Given the description of an element on the screen output the (x, y) to click on. 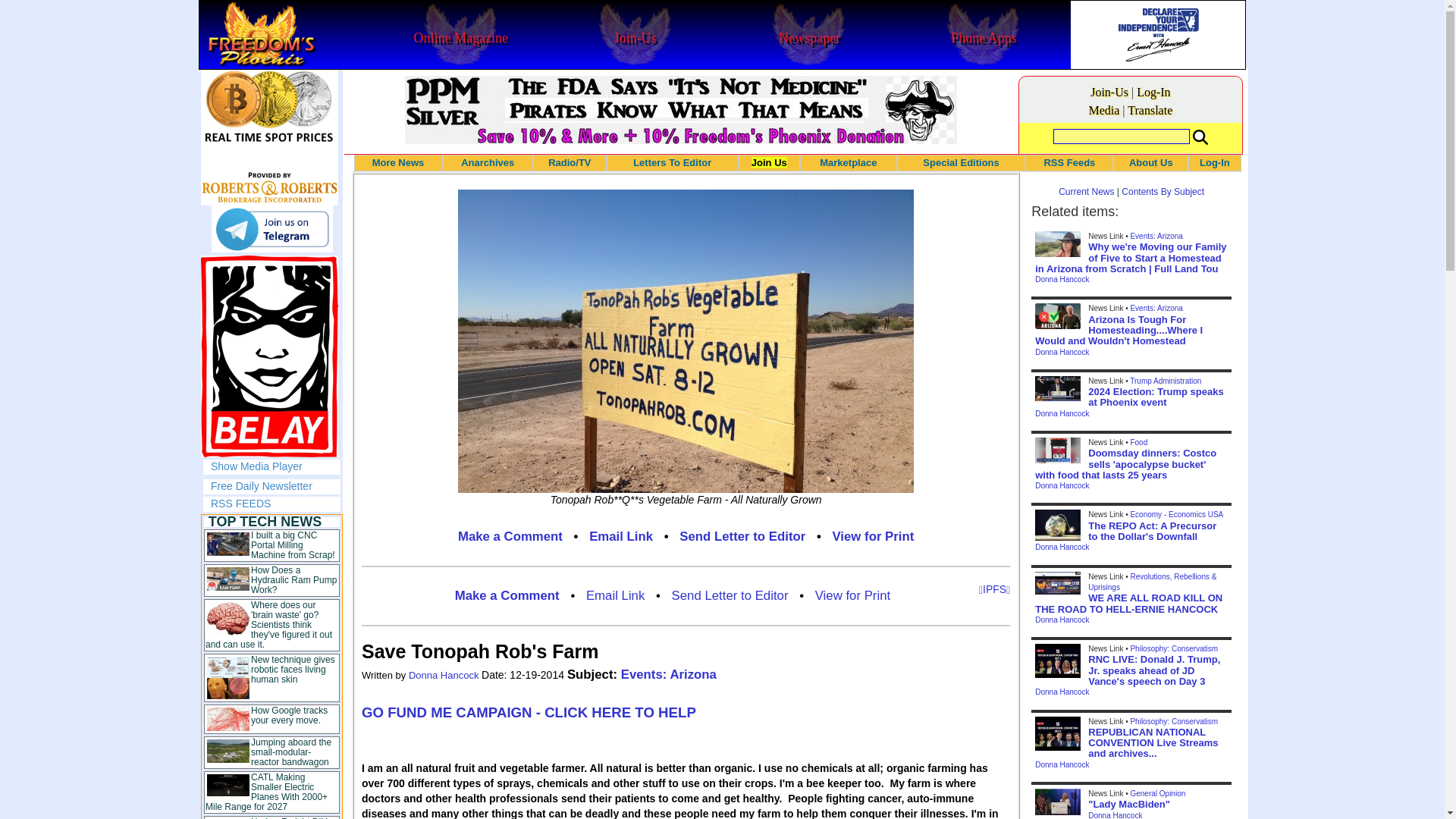
RSS FEEDS (240, 503)
A quick description and demo of this ingenious pump. (293, 580)
New technique gives robotic faces living human skin (292, 669)
How Does a Hydraulic Ram Pump Work? (293, 580)
How Google tracks your every move. (288, 715)
Show Media Player (256, 466)
I built a big CNC Portal Milling Machine from Scrap! (292, 544)
Declare Your Independence on Telegram (271, 229)
TOP TECH NEWS (264, 521)
Free Daily Newsletter (262, 485)
